Given the description of an element on the screen output the (x, y) to click on. 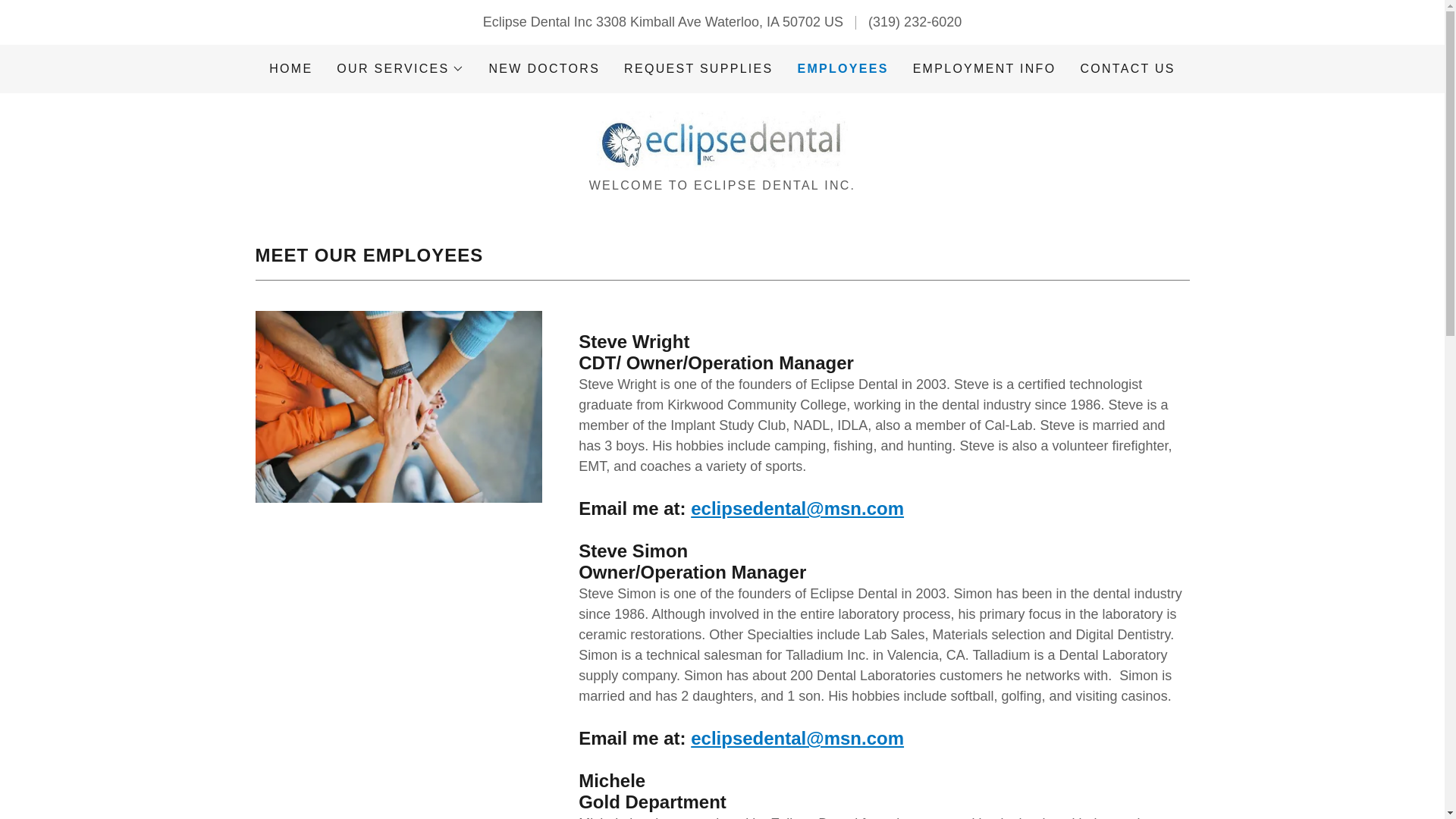
EMPLOYEES (842, 68)
HOME (290, 68)
CONTACT US (1127, 68)
REQUEST SUPPLIES (698, 68)
Eclipse Dental Inc (721, 140)
EMPLOYMENT INFO (984, 68)
NEW DOCTORS (543, 68)
OUR SERVICES (400, 68)
